Given the description of an element on the screen output the (x, y) to click on. 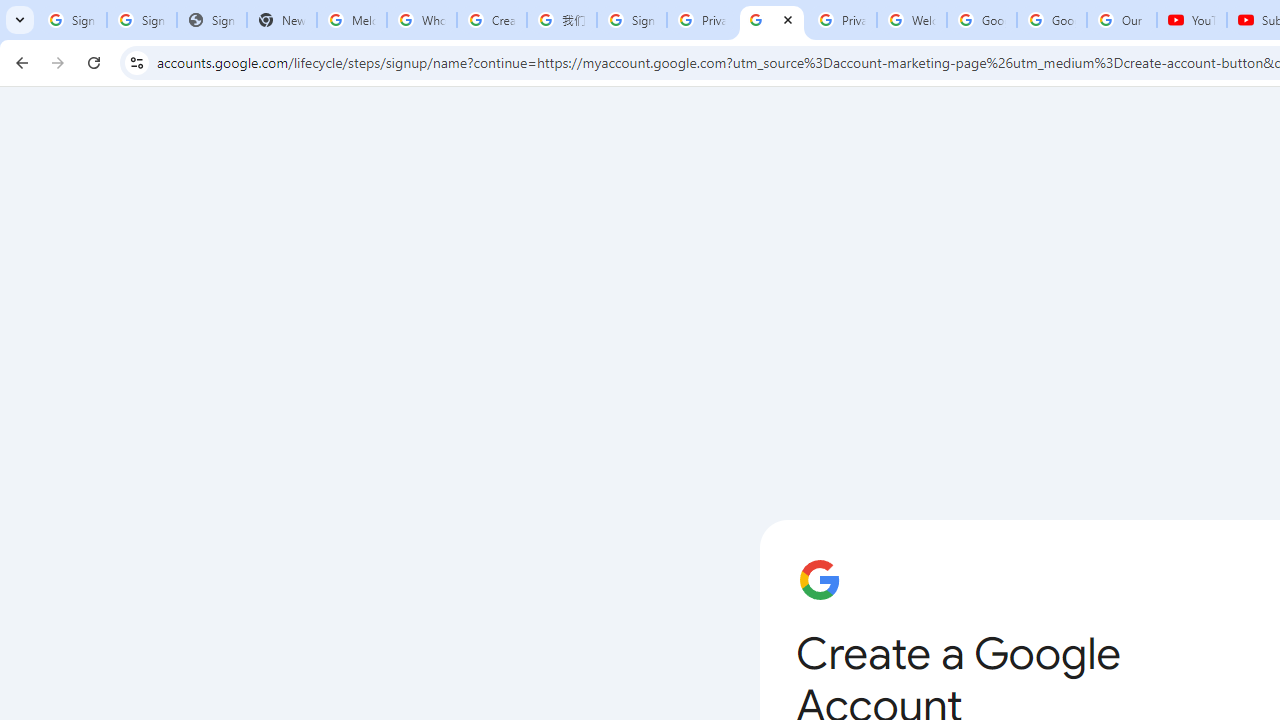
Create your Google Account (772, 20)
New Tab (282, 20)
Who is my administrator? - Google Account Help (421, 20)
Google Account (1051, 20)
Sign in - Google Accounts (72, 20)
